Given the description of an element on the screen output the (x, y) to click on. 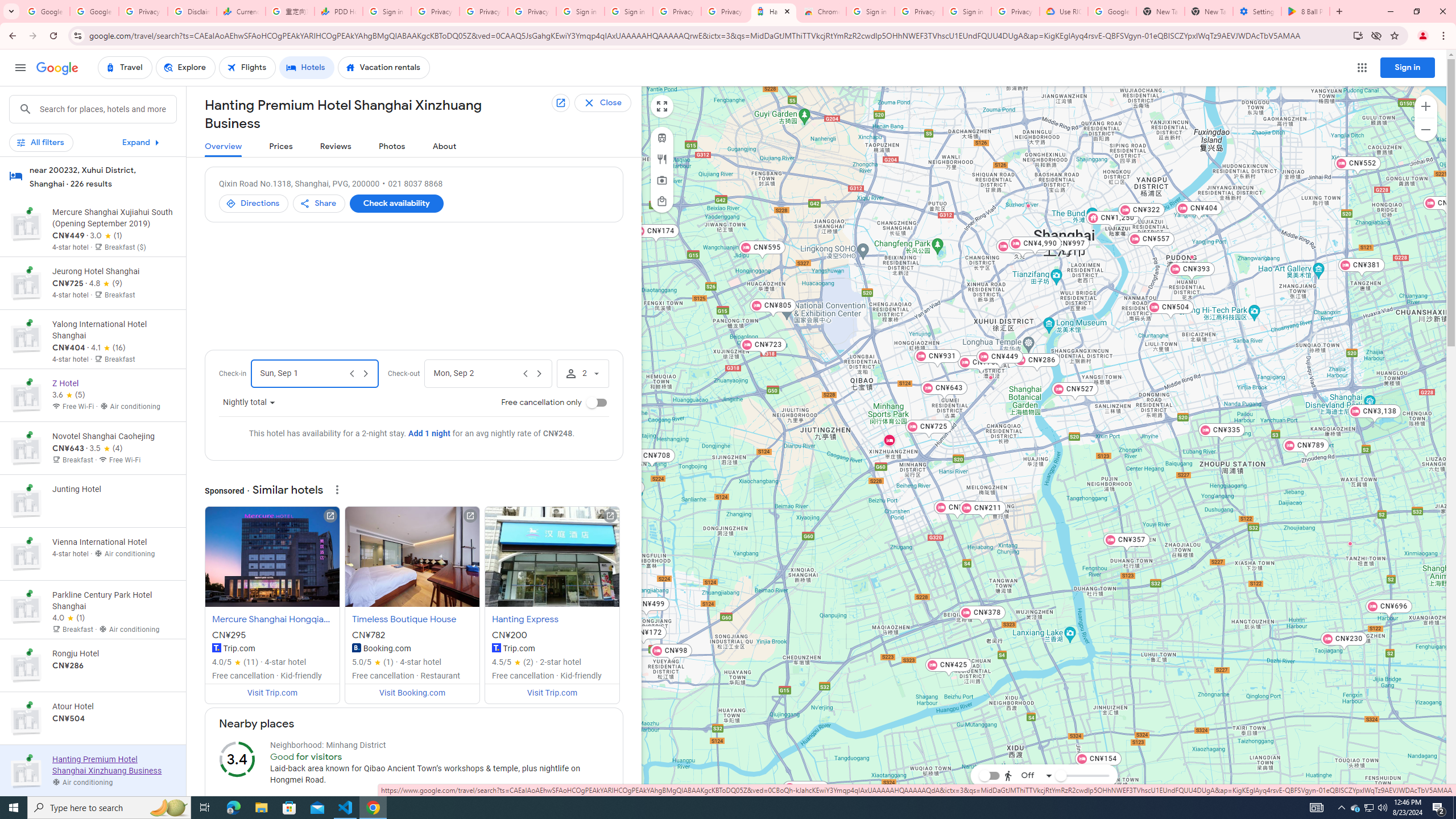
Back to list of all results (612, 103)
View larger map (661, 106)
View prices for Parkline Century Park Hotel Shanghai (113, 651)
Prices (280, 146)
Skip to main content (92, 147)
Currencies - Google Finance (240, 11)
Explore (185, 67)
Hanting Premium Hotel Shanghai Xinzhuang Business (889, 439)
Number of travelers. Current number of travelers is 2. (582, 373)
